Given the description of an element on the screen output the (x, y) to click on. 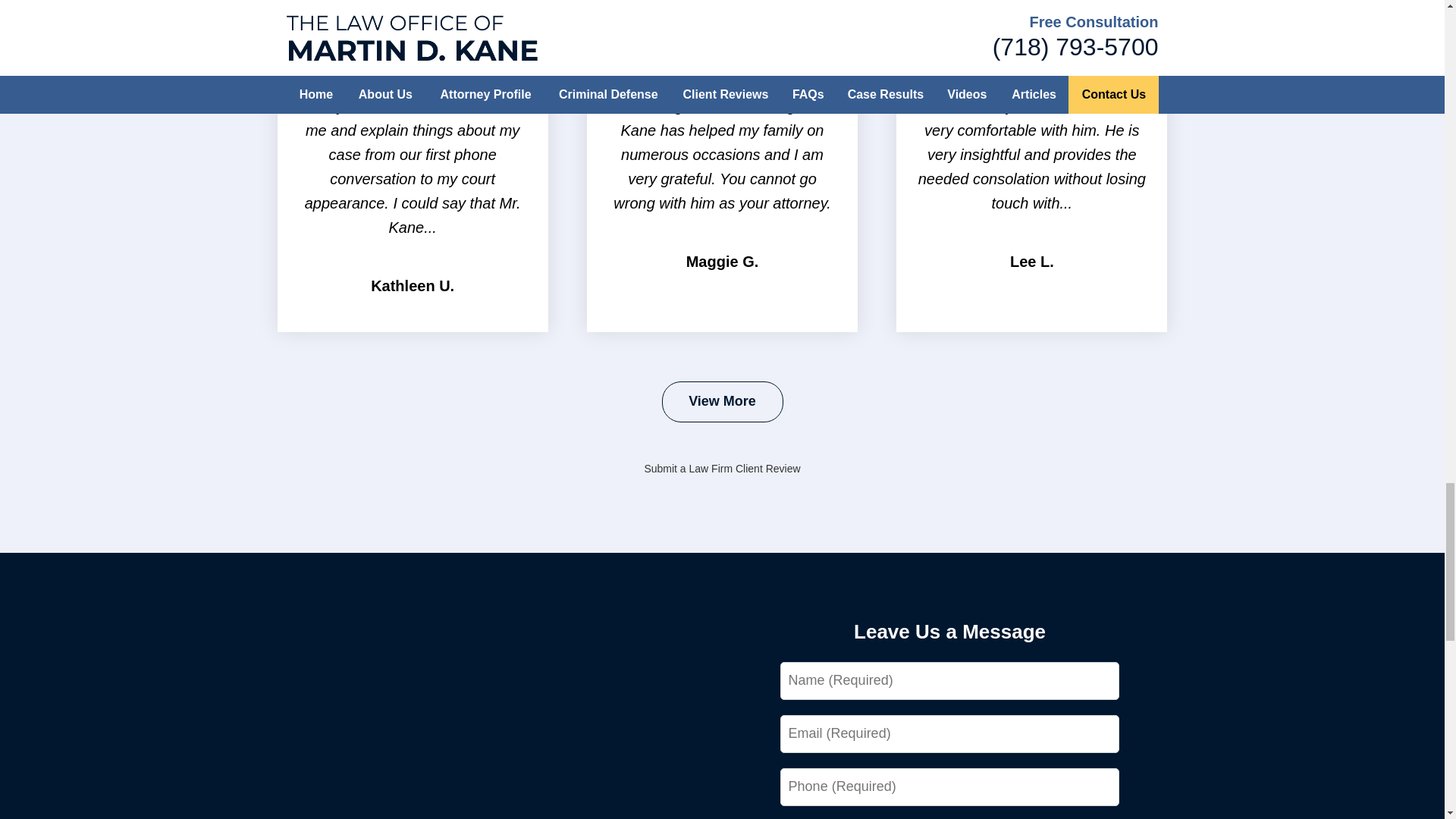
View More (722, 401)
Submit a Law Firm Client Review (721, 468)
